Given the description of an element on the screen output the (x, y) to click on. 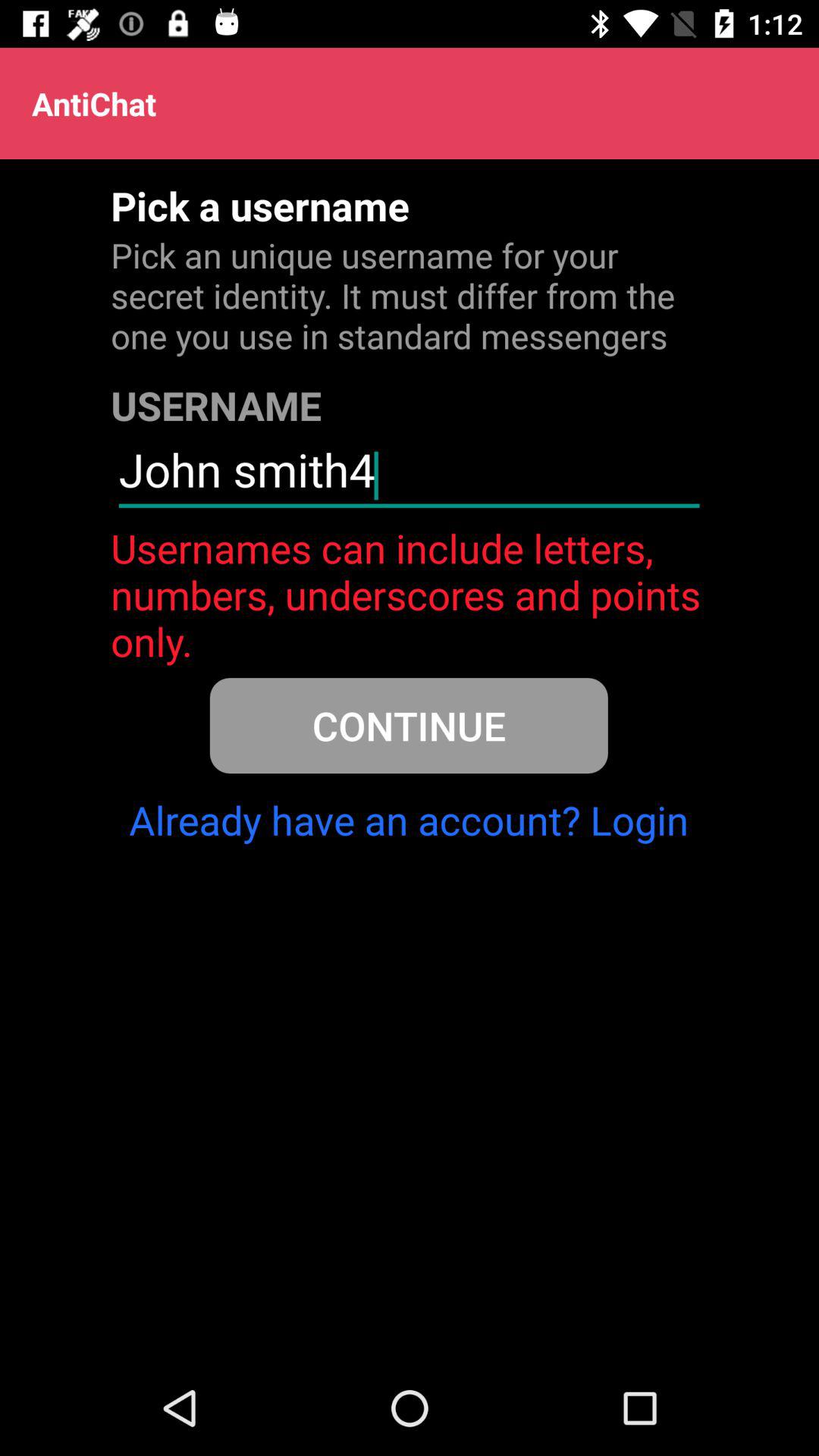
turn off item below username (408, 476)
